Given the description of an element on the screen output the (x, y) to click on. 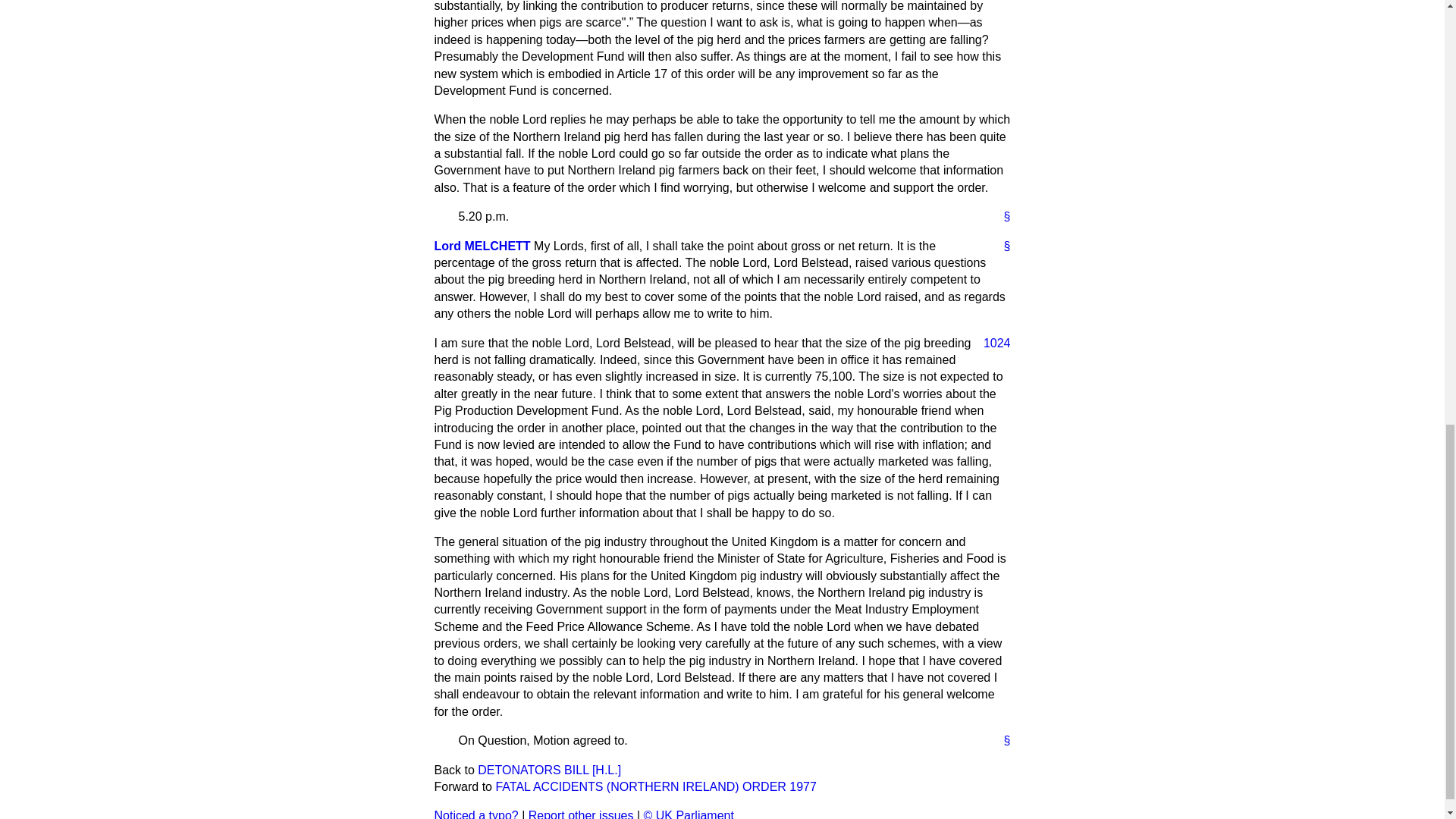
Link to this speech by Mr Peter Mond (1000, 246)
Link to this contribution (1000, 740)
Link to this contribution (1000, 216)
1024 (990, 343)
Lord MELCHETT (481, 245)
Mr Peter Mond (481, 245)
